Given the description of an element on the screen output the (x, y) to click on. 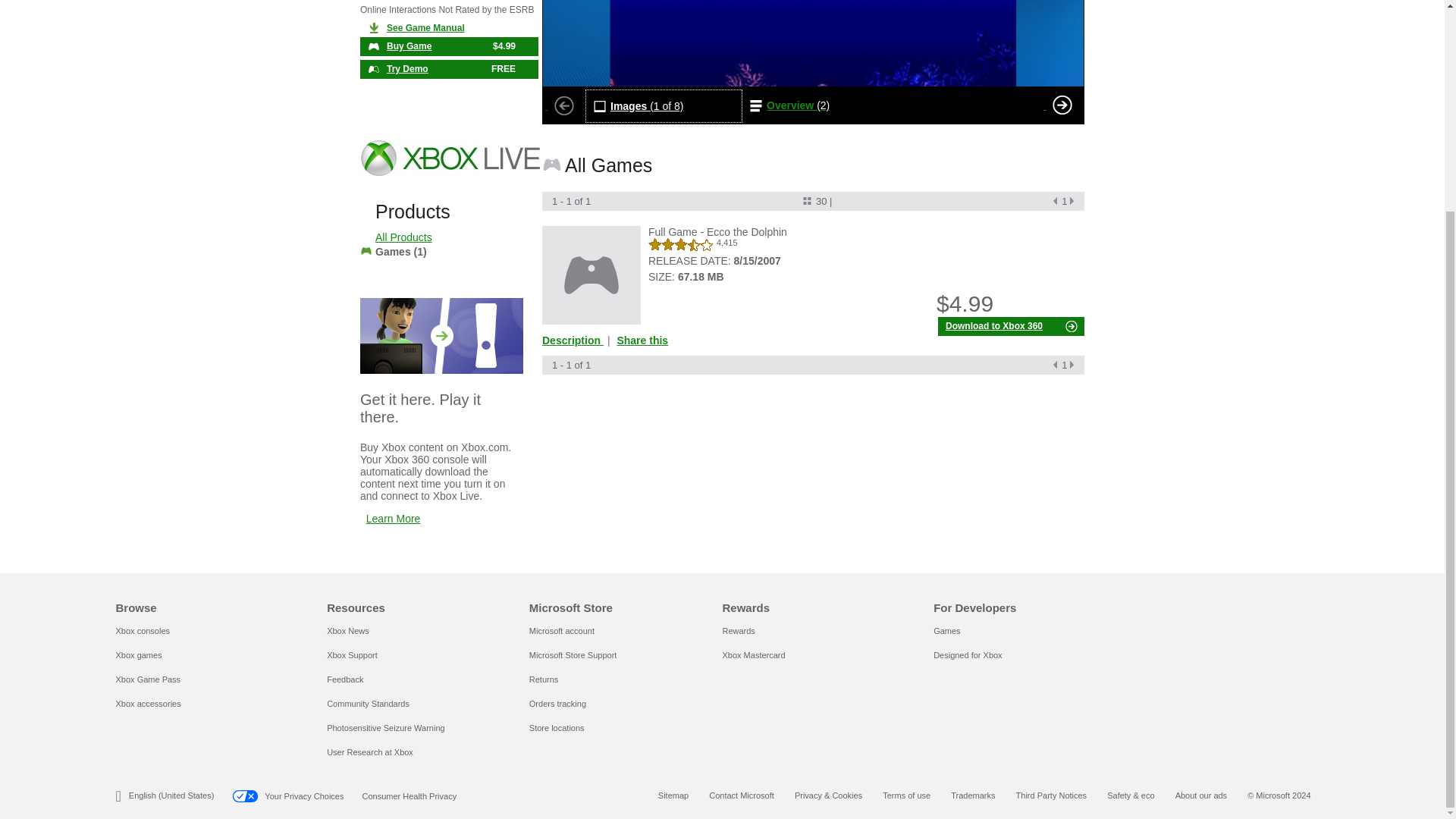
All Products (403, 236)
Previous (563, 105)
Learn More (393, 518)
Next (1062, 105)
Share this - Full Game - Ecco the Dolphin (641, 340)
Game (590, 275)
Description - Full Game - Ecco the Dolphin (574, 340)
Xbox Live Logo (448, 162)
